Given the description of an element on the screen output the (x, y) to click on. 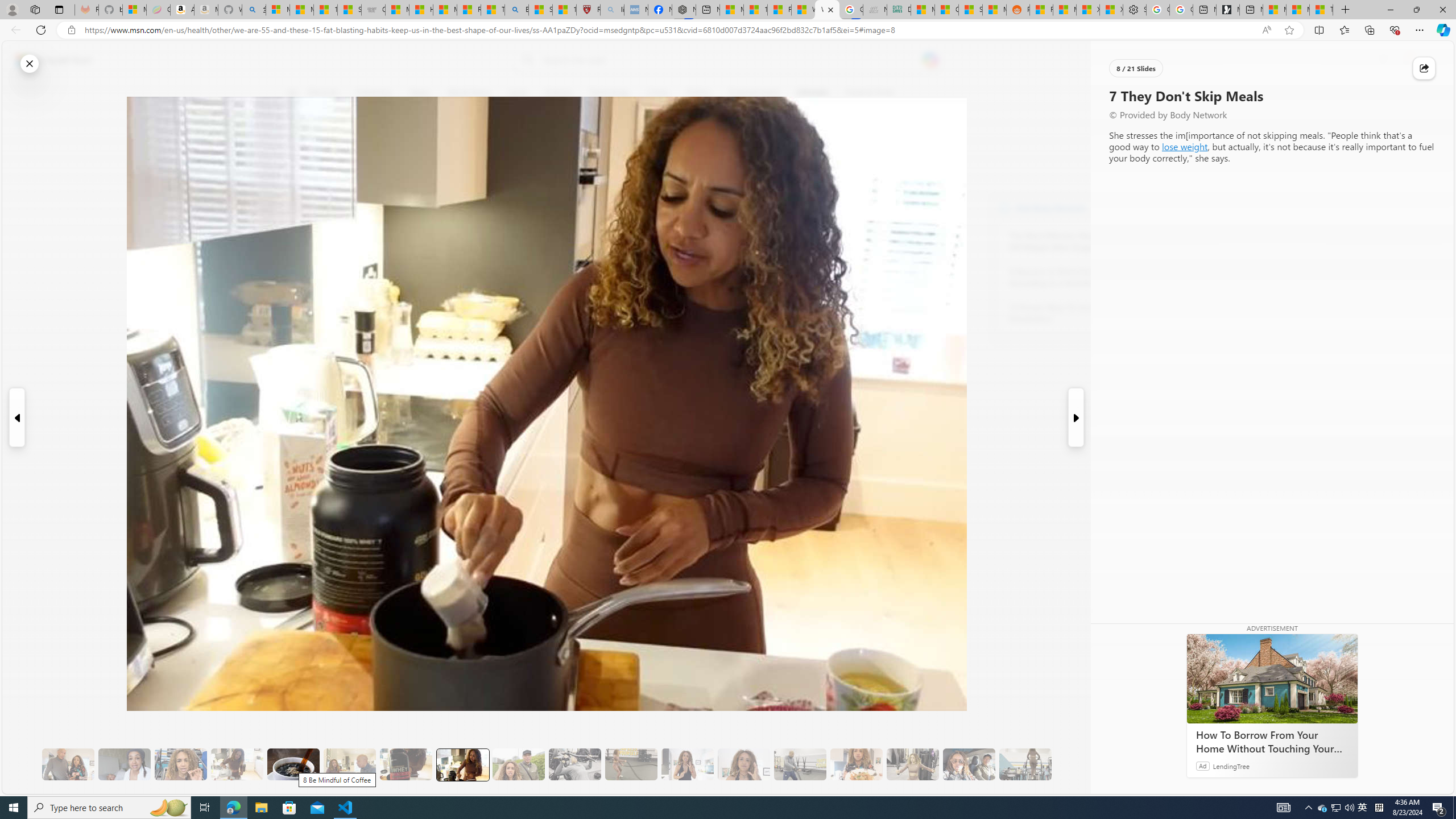
Technology (609, 92)
DITOGAMES AG Imprint (898, 9)
6 (299, 170)
Science (557, 92)
Skip to content (49, 59)
Close tab (830, 9)
Entertainment (753, 92)
Food & Drink (865, 92)
Skip to footer (46, 59)
Microsoft rewards (1382, 60)
How To Borrow From Your Home Without Touching Your Mortgage (1271, 678)
